Given the description of an element on the screen output the (x, y) to click on. 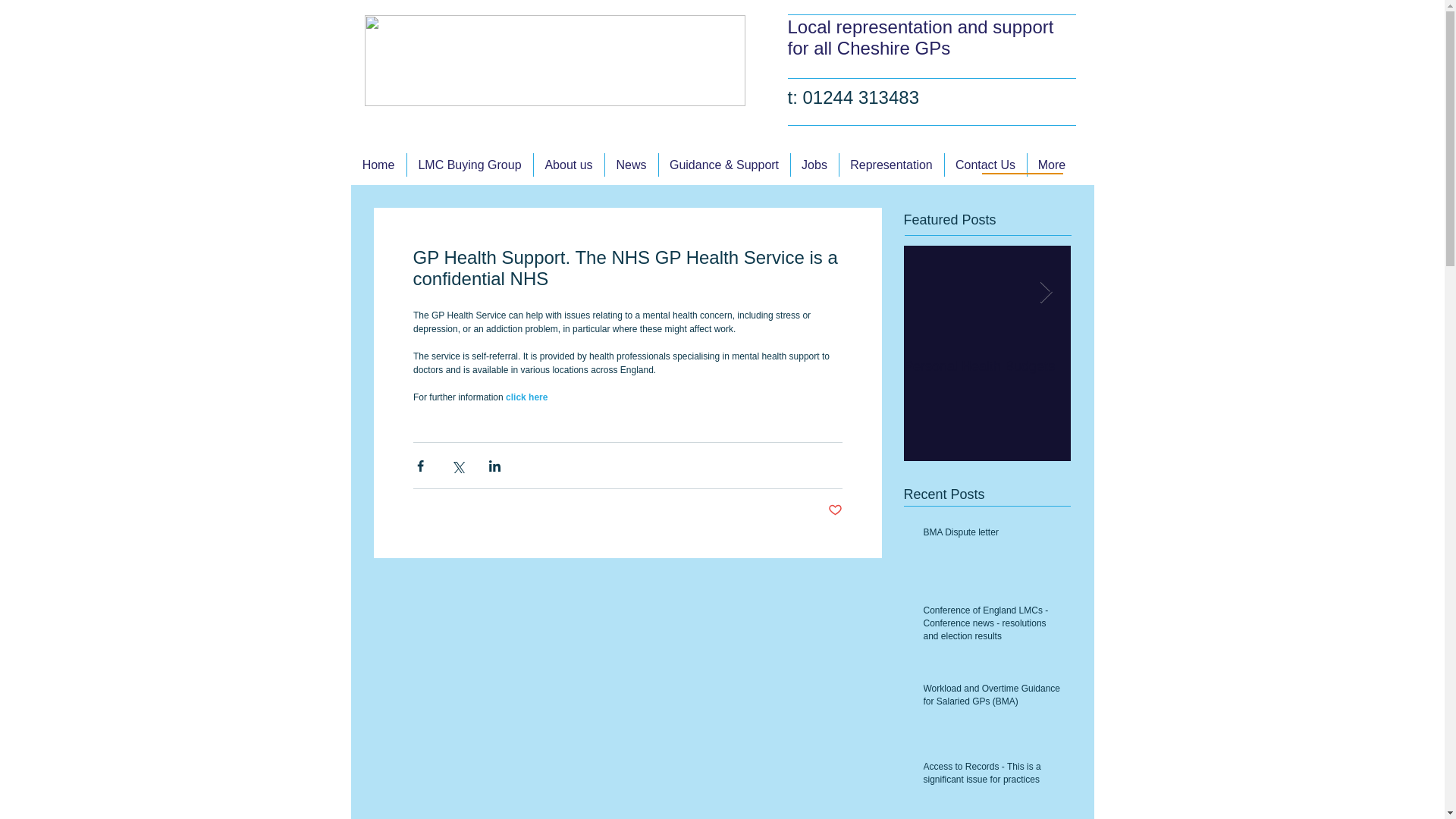
Representation (890, 164)
Home (378, 164)
Jobs (814, 164)
New-CLMC-web-logo.png (554, 60)
Post not marked as liked (835, 510)
LMC Buying Group (469, 164)
News (631, 164)
click here (526, 397)
